Given the description of an element on the screen output the (x, y) to click on. 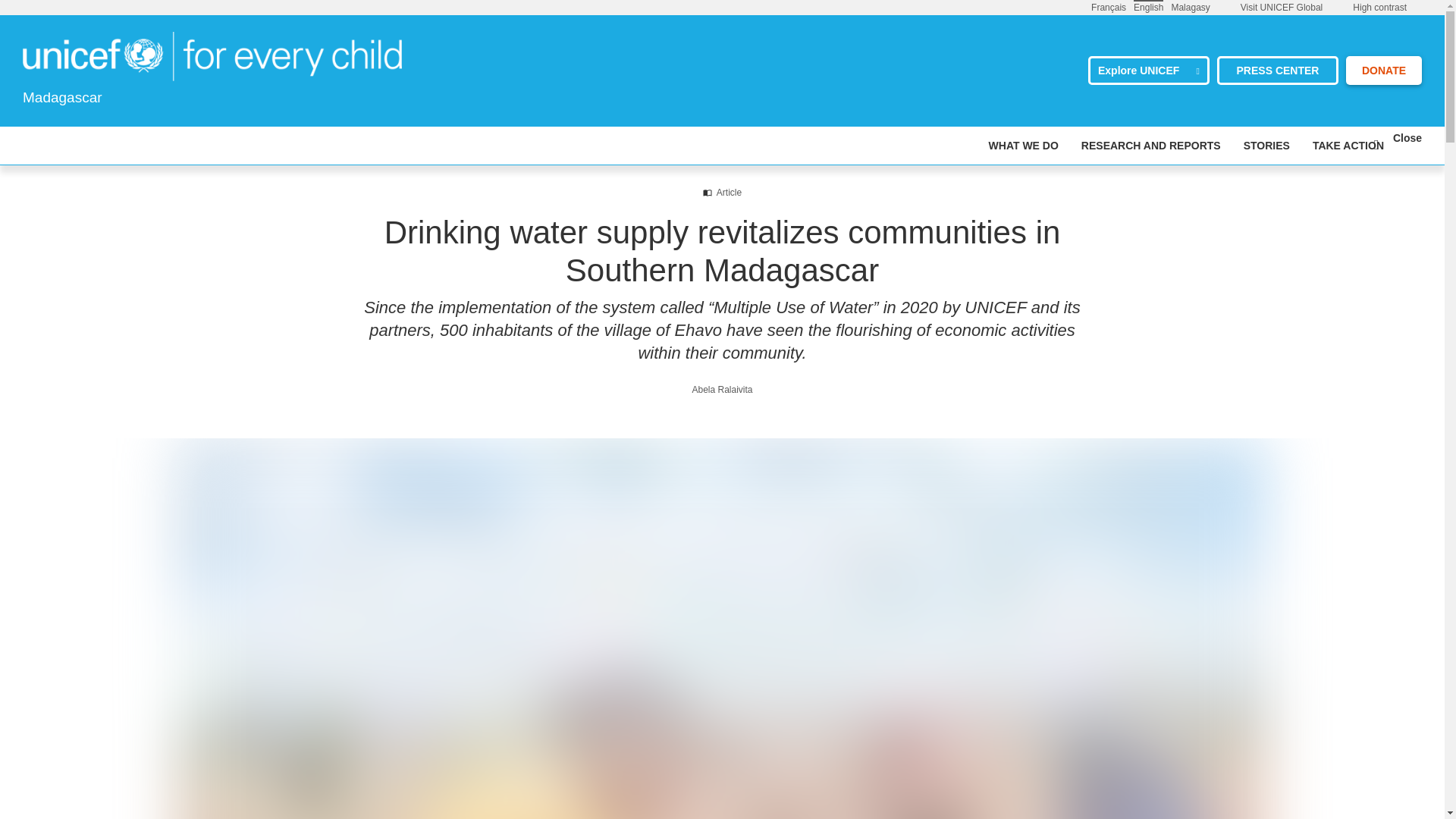
Malagasy (1189, 6)
WHAT WE DO (1023, 145)
UNICEF (212, 54)
Visit UNICEF Global (1281, 7)
Madagascar (212, 56)
PRESS CENTER (1277, 70)
DONATE (1383, 70)
RESEARCH AND REPORTS (1151, 145)
STORIES (1266, 145)
Explore UNICEF (1148, 70)
The human stories behind data (1266, 145)
High contrast (1379, 7)
English (1148, 6)
Explore UNICEF (1148, 70)
